Given the description of an element on the screen output the (x, y) to click on. 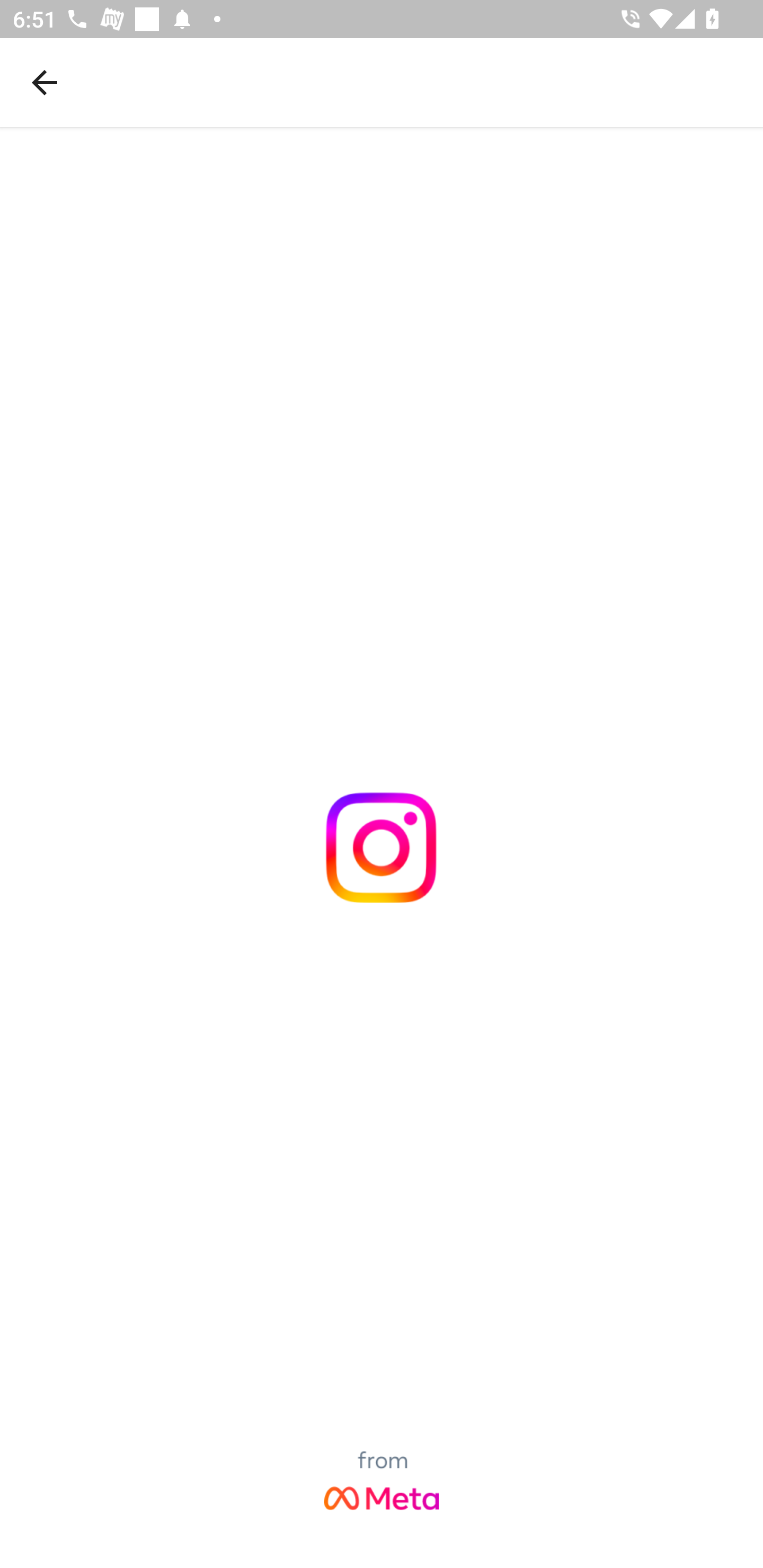
Navigate up (44, 82)
